Given the description of an element on the screen output the (x, y) to click on. 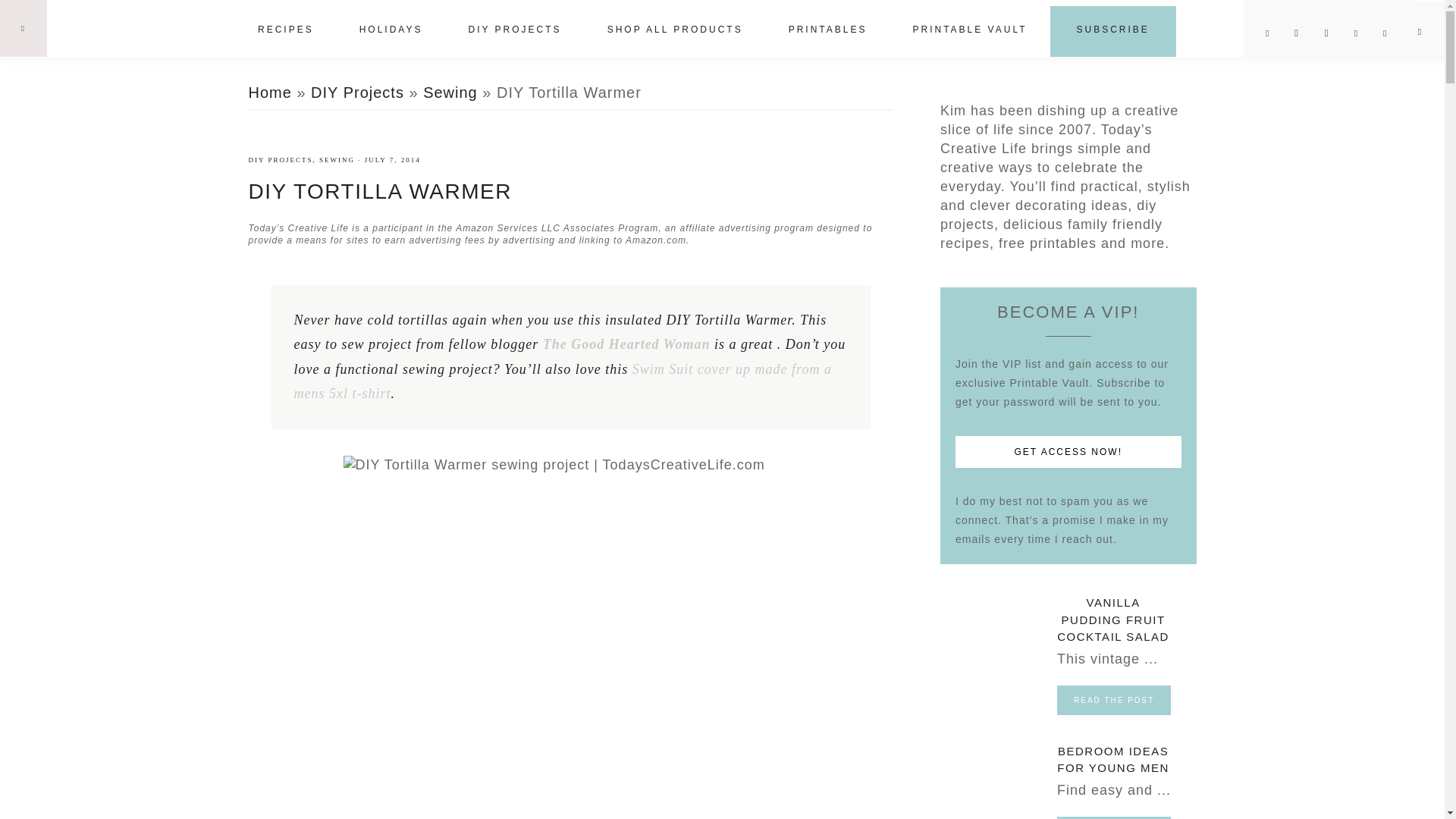
SHOP ALL PRODUCTS (675, 30)
Sewing (450, 92)
Swim Suit cover up made from a mens 5xl t-shirt (562, 381)
SEWING (336, 159)
PRINTABLES (827, 30)
The Good Hearted Woman (626, 344)
DIY PROJECTS (514, 30)
Home (270, 92)
PRINTABLE VAULT (969, 30)
Facebook (1303, 32)
